Given the description of an element on the screen output the (x, y) to click on. 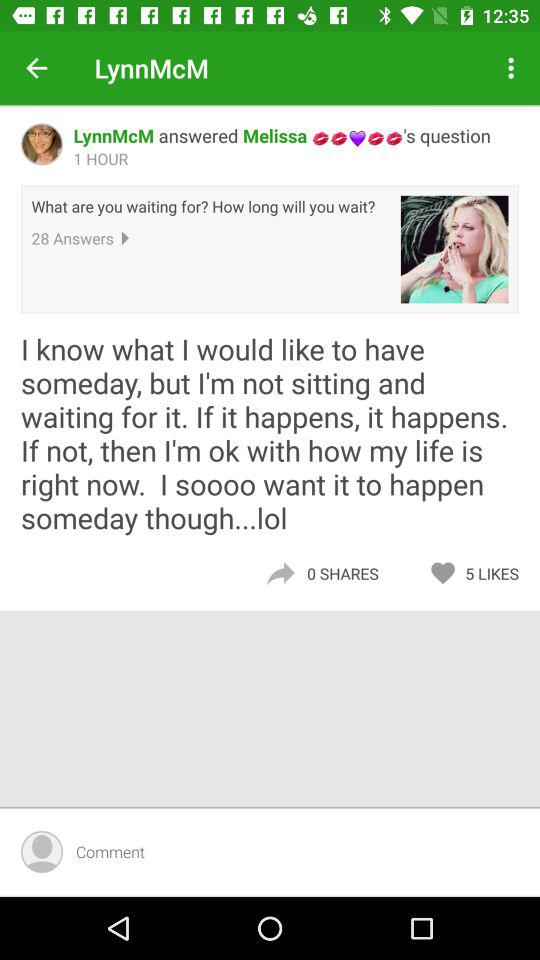
open icon next to what are you (454, 249)
